Given the description of an element on the screen output the (x, y) to click on. 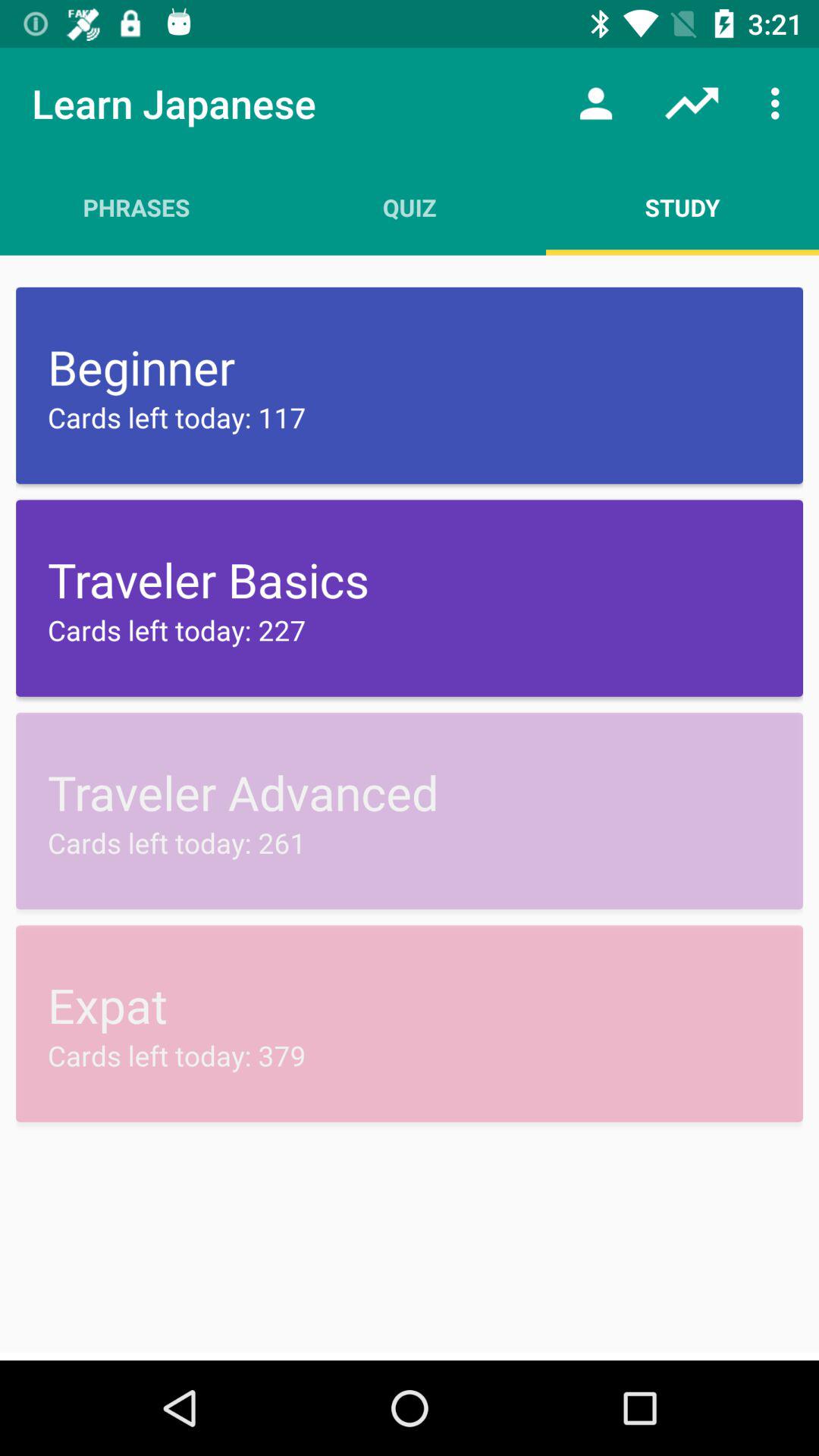
turn off the app to the left of the quiz item (136, 207)
